Given the description of an element on the screen output the (x, y) to click on. 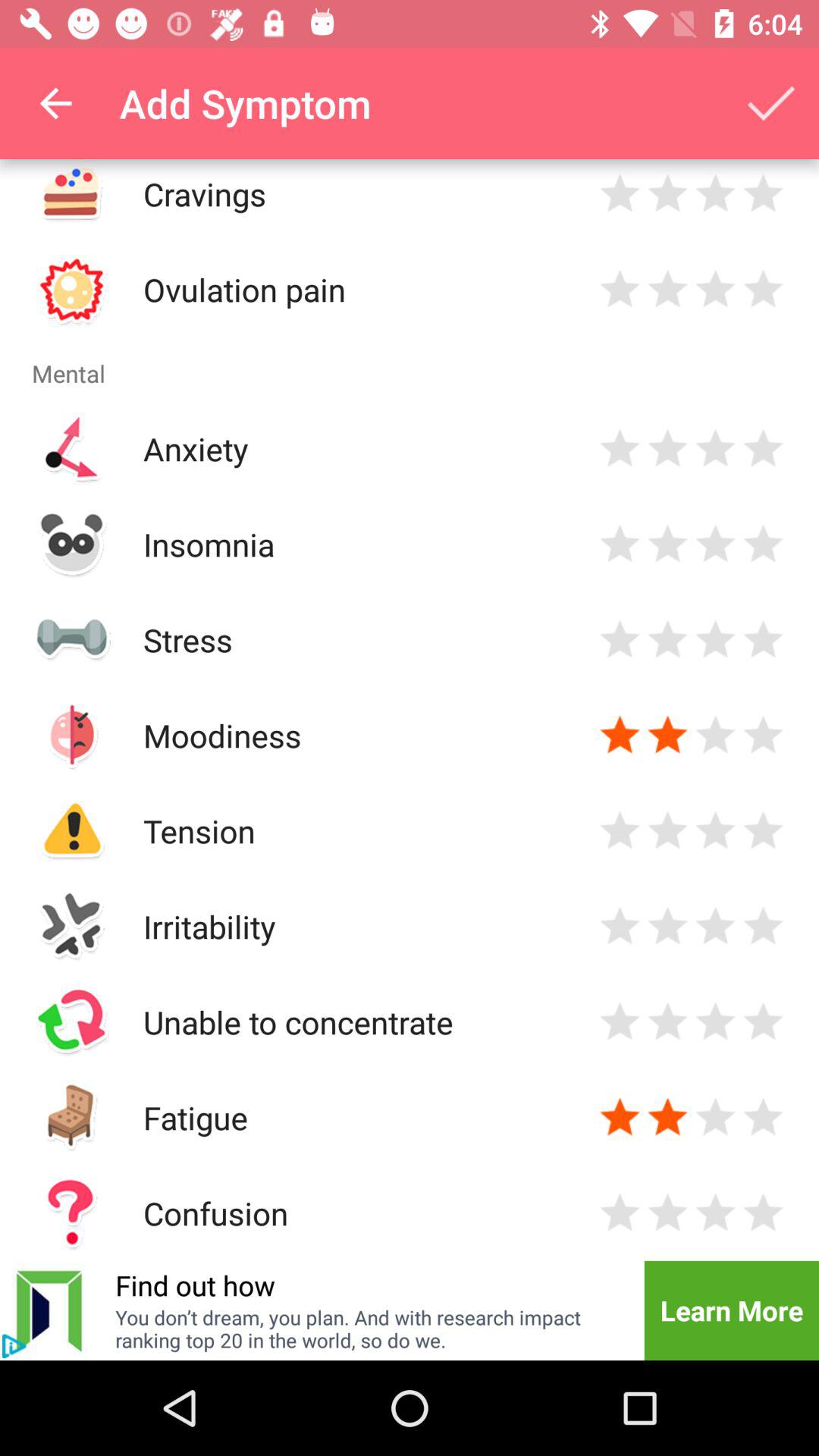
rate three stars (715, 1021)
